Given the description of an element on the screen output the (x, y) to click on. 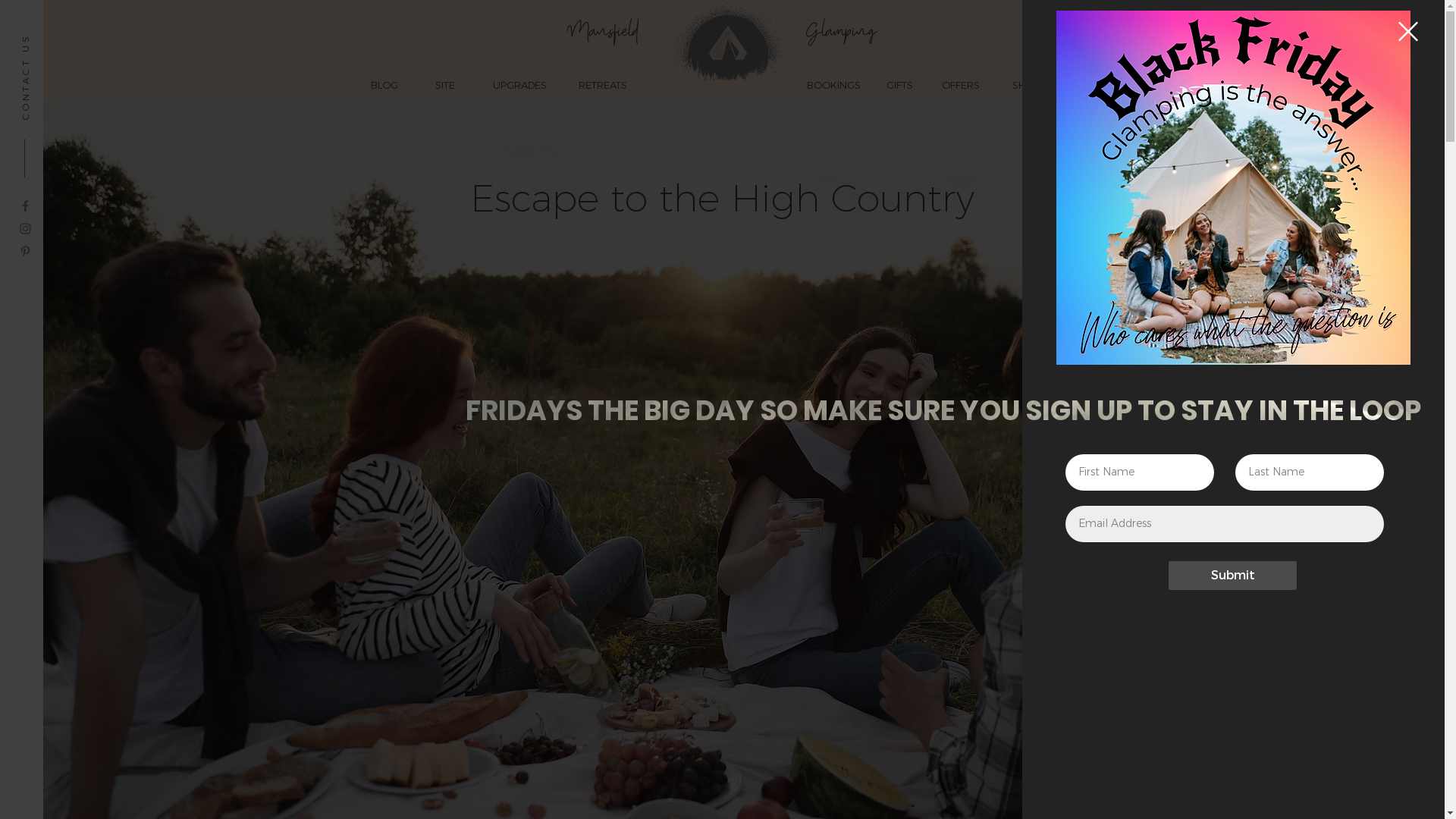
RETREATS Element type: text (602, 85)
SITE Element type: text (444, 85)
OFFERS Element type: text (959, 85)
BLOG Element type: text (383, 85)
Submit Element type: text (1232, 575)
UPGRADES Element type: text (518, 85)
CONTACT US Element type: text (62, 38)
Back to site Element type: hover (1408, 31)
BOOKINGS Element type: text (832, 85)
LANDING PAGE CLICK FRENZY.png Element type: hover (1233, 187)
GIFTS Element type: text (899, 85)
SHOP Element type: text (1025, 85)
